Given the description of an element on the screen output the (x, y) to click on. 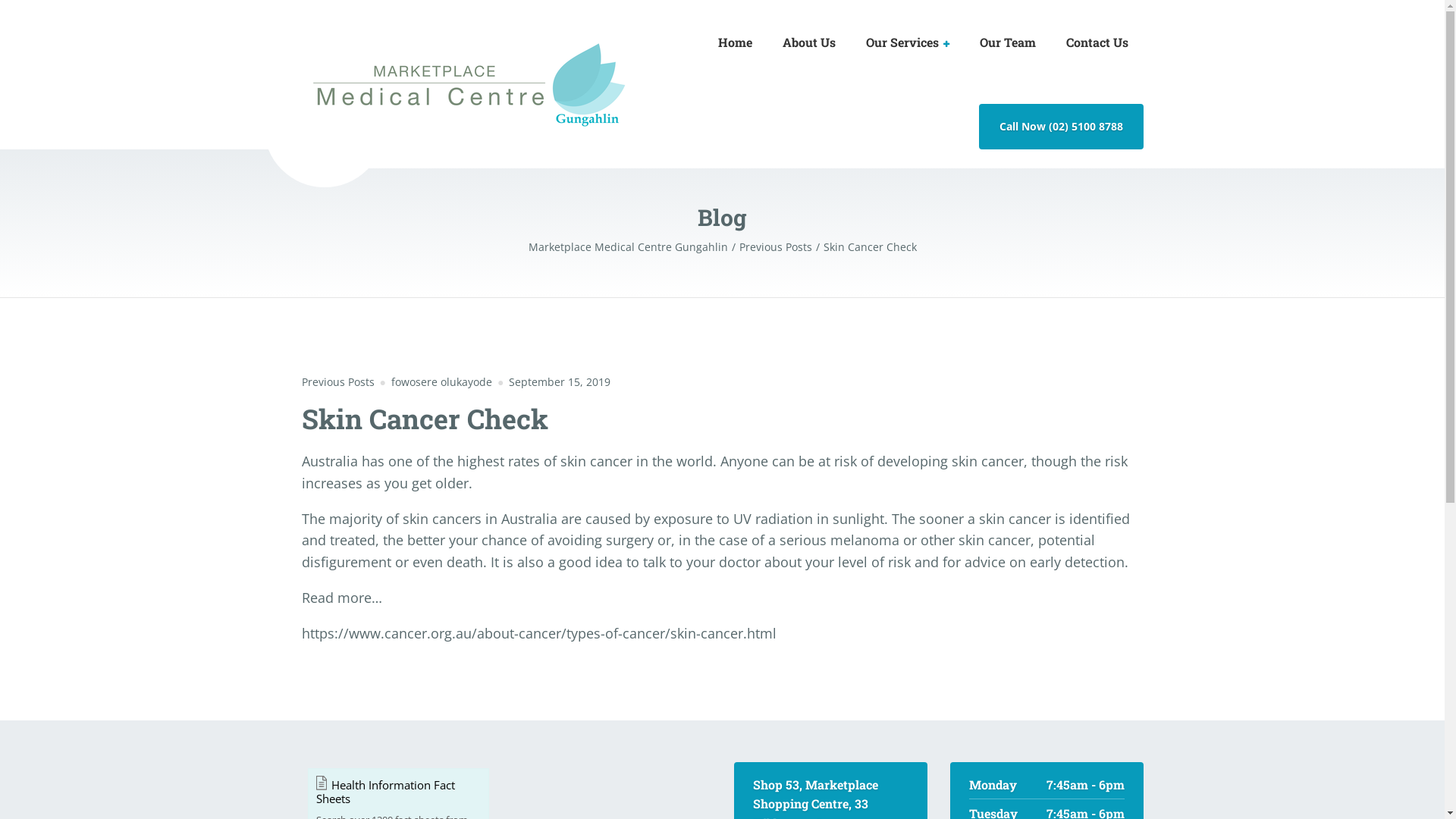
Our Team Element type: text (1007, 42)
Marketplace Medical Centre Gungahlin Element type: text (632, 246)
Contact Us Element type: text (1097, 42)
Previous Posts Element type: text (780, 246)
Our Services Element type: text (907, 42)
Home Element type: text (734, 42)
September 15, 2019 Element type: text (559, 381)
About Us Element type: text (808, 42)
Call Now (02) 5100 8788 Element type: text (1060, 126)
Previous Posts Element type: text (337, 381)
